Given the description of an element on the screen output the (x, y) to click on. 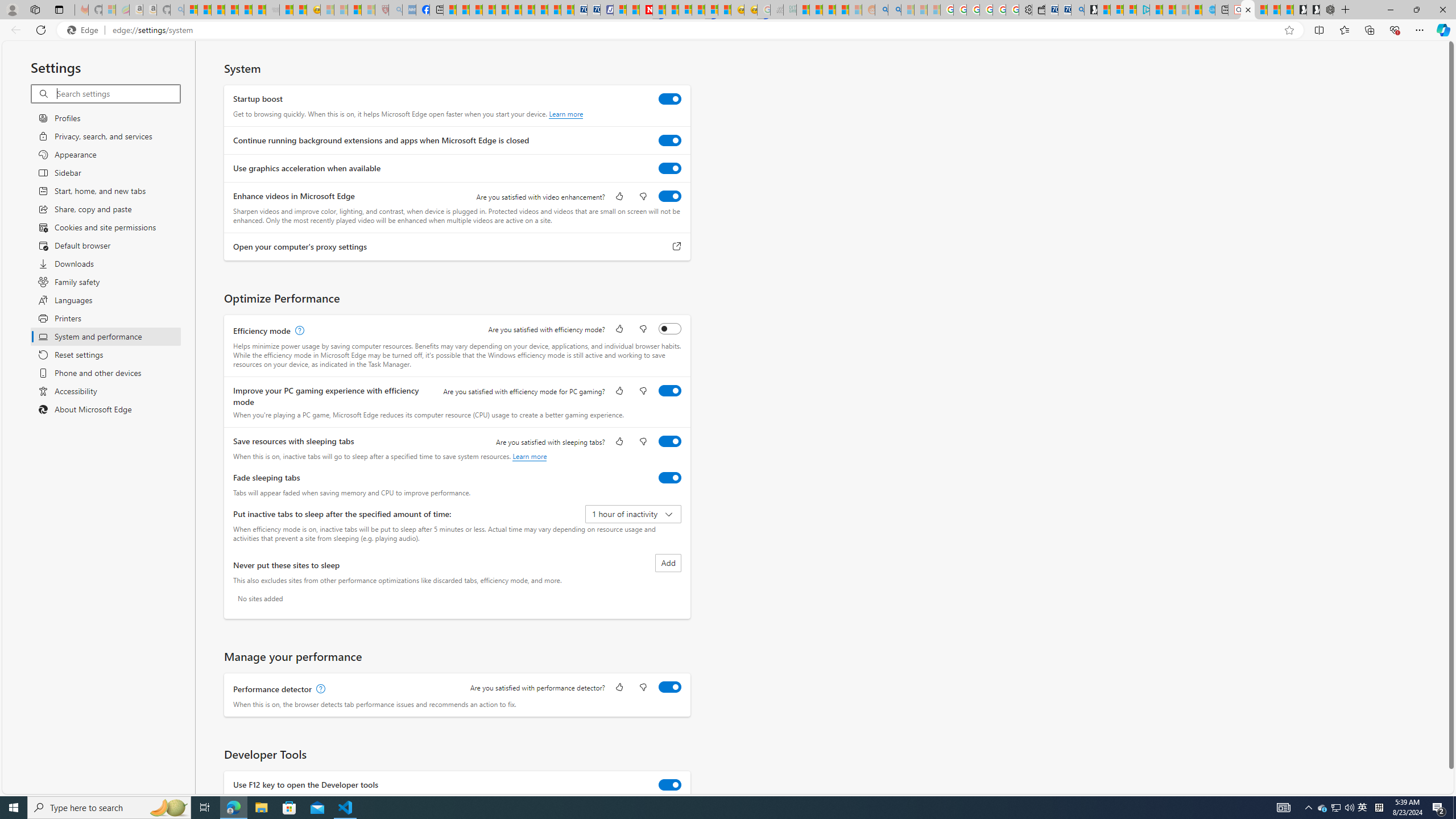
Startup boost (669, 98)
Use graphics acceleration when available (669, 167)
Efficiency mode (669, 328)
Student Loan Update: Forgiveness Program Ends This Month (842, 9)
Wallet (1037, 9)
